Given the description of an element on the screen output the (x, y) to click on. 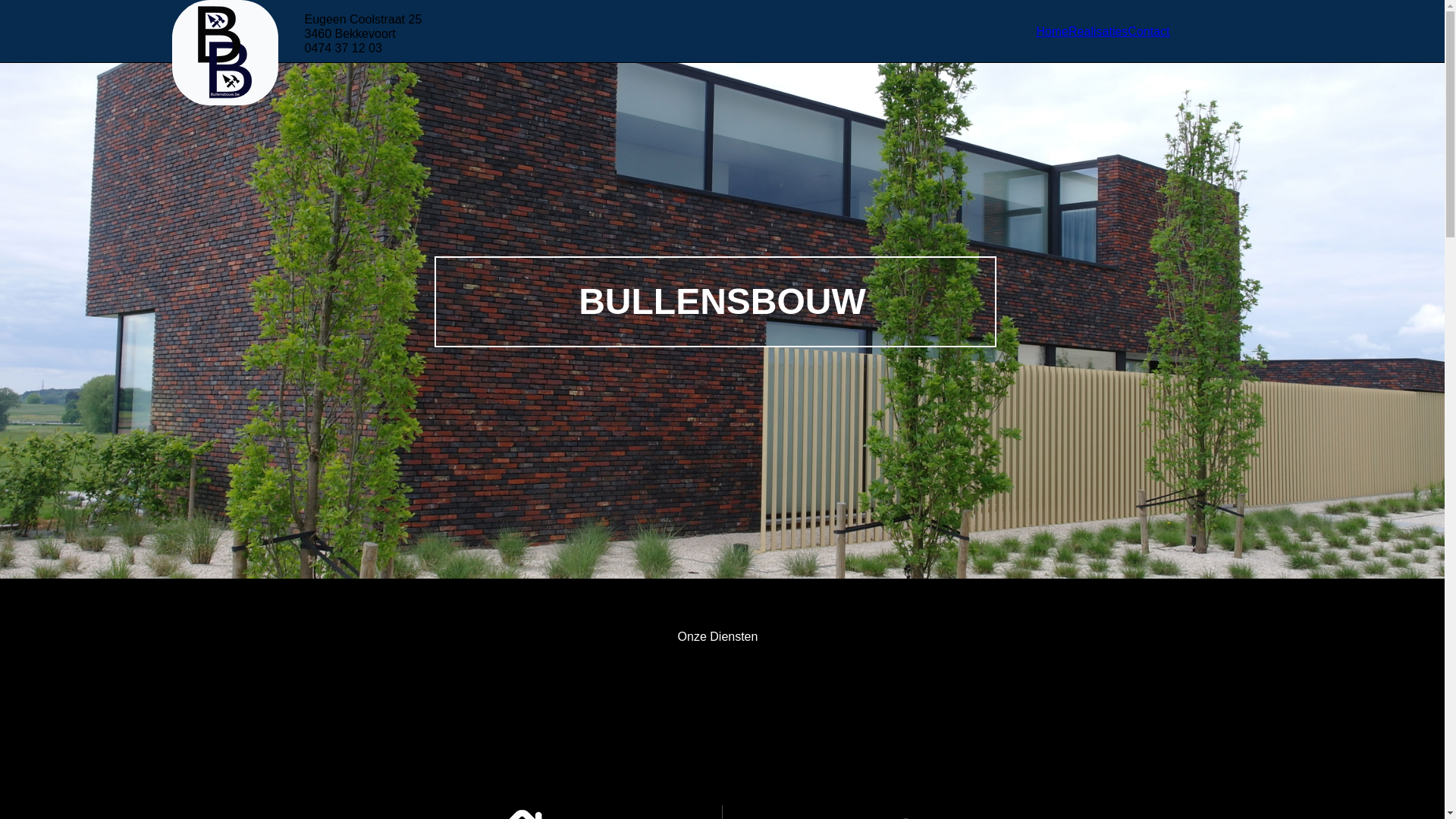
Realisaties Element type: text (1097, 30)
Home Element type: text (1051, 30)
Contact Element type: text (1148, 30)
